Given the description of an element on the screen output the (x, y) to click on. 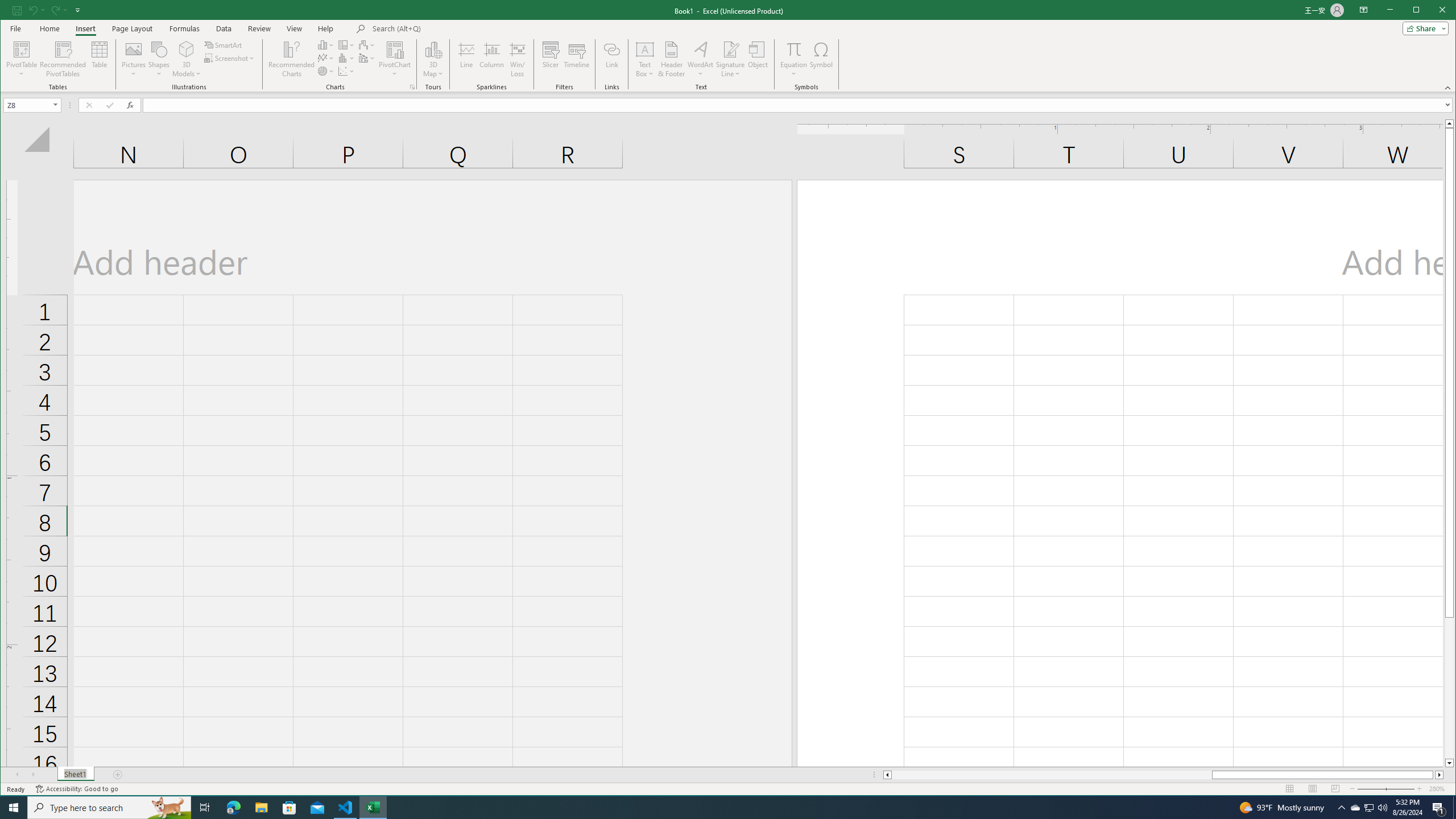
Action Center, 1 new notification (1439, 807)
Equation (793, 48)
PivotChart (394, 59)
Draw Horizontal Text Box (644, 48)
Insert Scatter (X, Y) or Bubble Chart (346, 70)
Type here to search (108, 807)
Insert Combo Chart (366, 57)
Microsoft Store (289, 807)
